Given the description of an element on the screen output the (x, y) to click on. 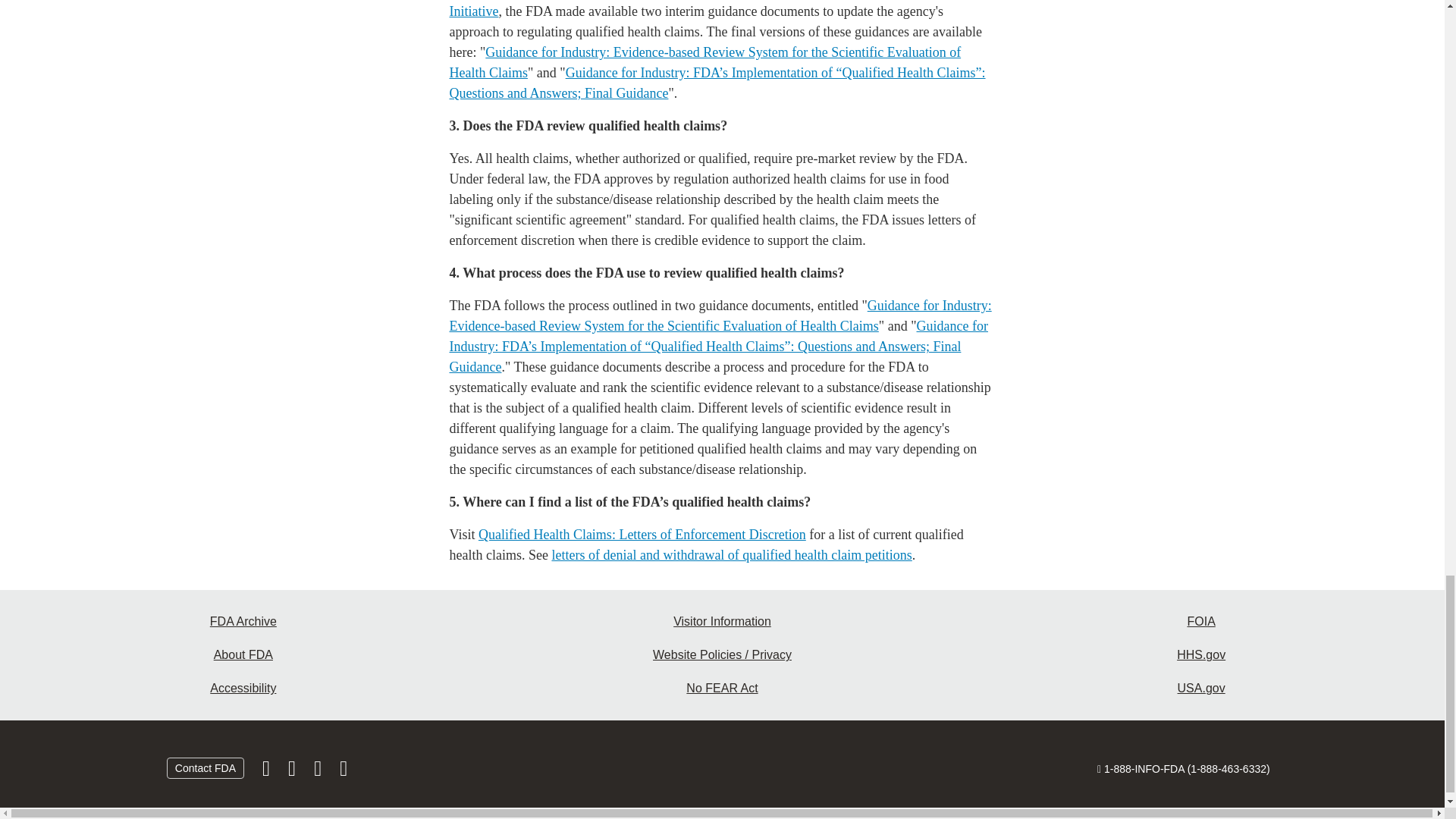
View FDA videos on YouTube (318, 771)
Health and Human Services (1200, 654)
Freedom of Information Act (1200, 621)
Follow FDA on Twitter (293, 771)
Subscribe to FDA RSS feeds (343, 771)
Follow FDA on Facebook (267, 771)
